Given the description of an element on the screen output the (x, y) to click on. 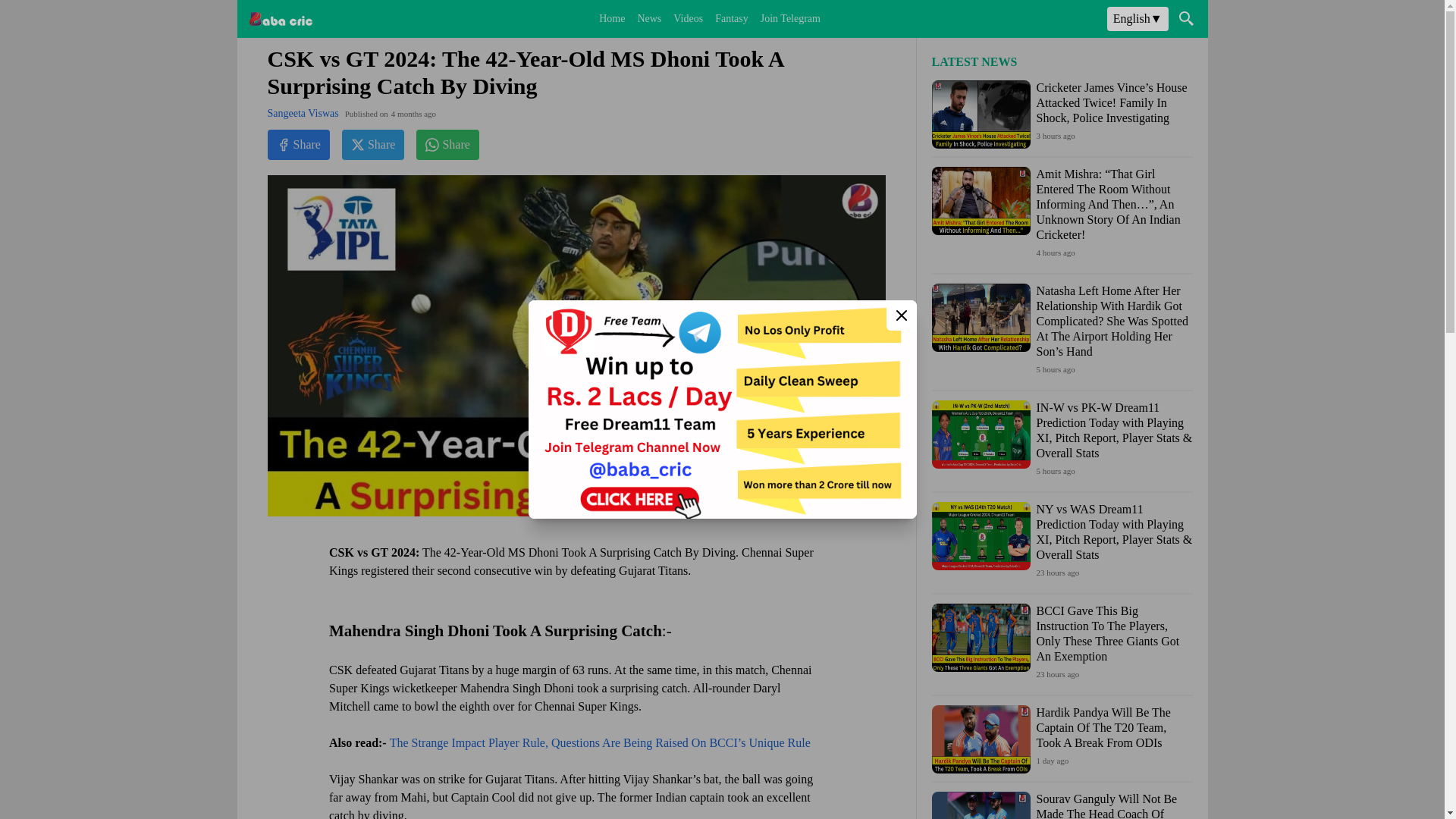
Close menu (900, 315)
Share (373, 143)
News (648, 19)
Fantasy (731, 19)
Join Telegram (790, 19)
Share (447, 143)
Sangeeta Viswas (301, 113)
Share (297, 143)
Home (611, 19)
Videos (687, 19)
